Given the description of an element on the screen output the (x, y) to click on. 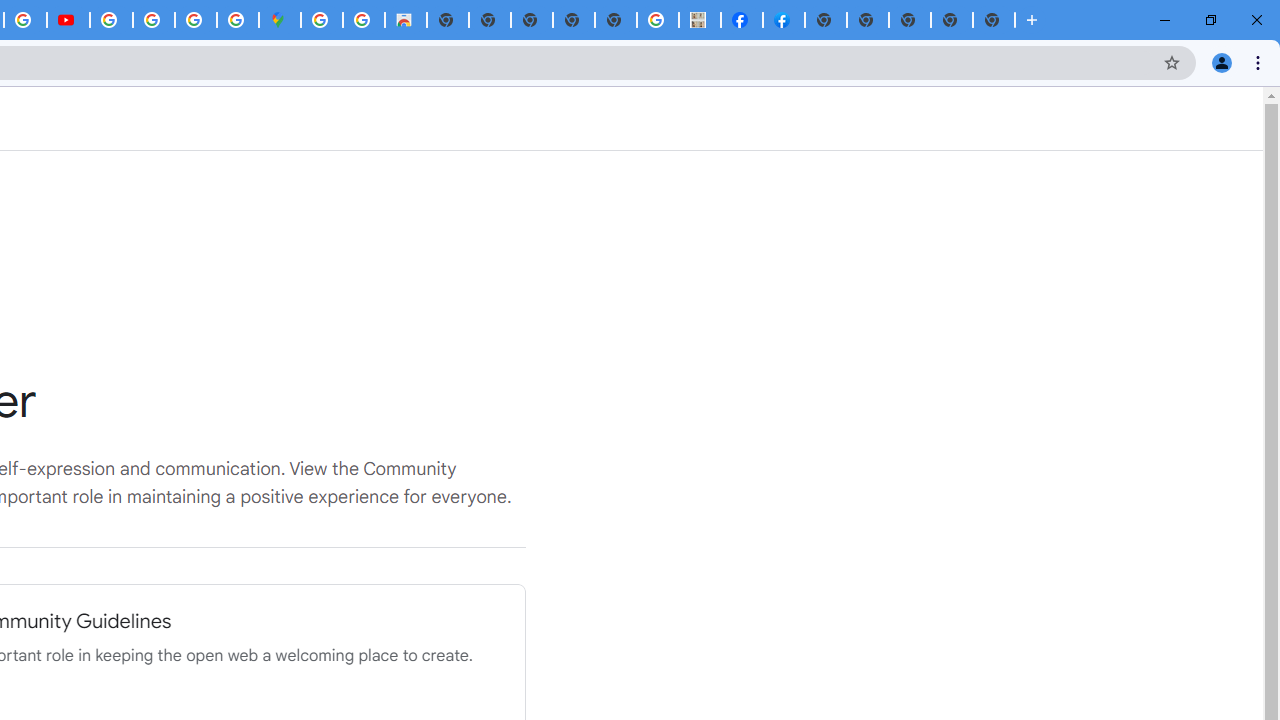
Subscriptions - YouTube (68, 20)
New Tab (909, 20)
MILEY CYRUS. (699, 20)
How Chrome protects your passwords - Google Chrome Help (111, 20)
Google Maps (279, 20)
Miley Cyrus | Facebook (741, 20)
Sign Up for Facebook (783, 20)
